Given the description of an element on the screen output the (x, y) to click on. 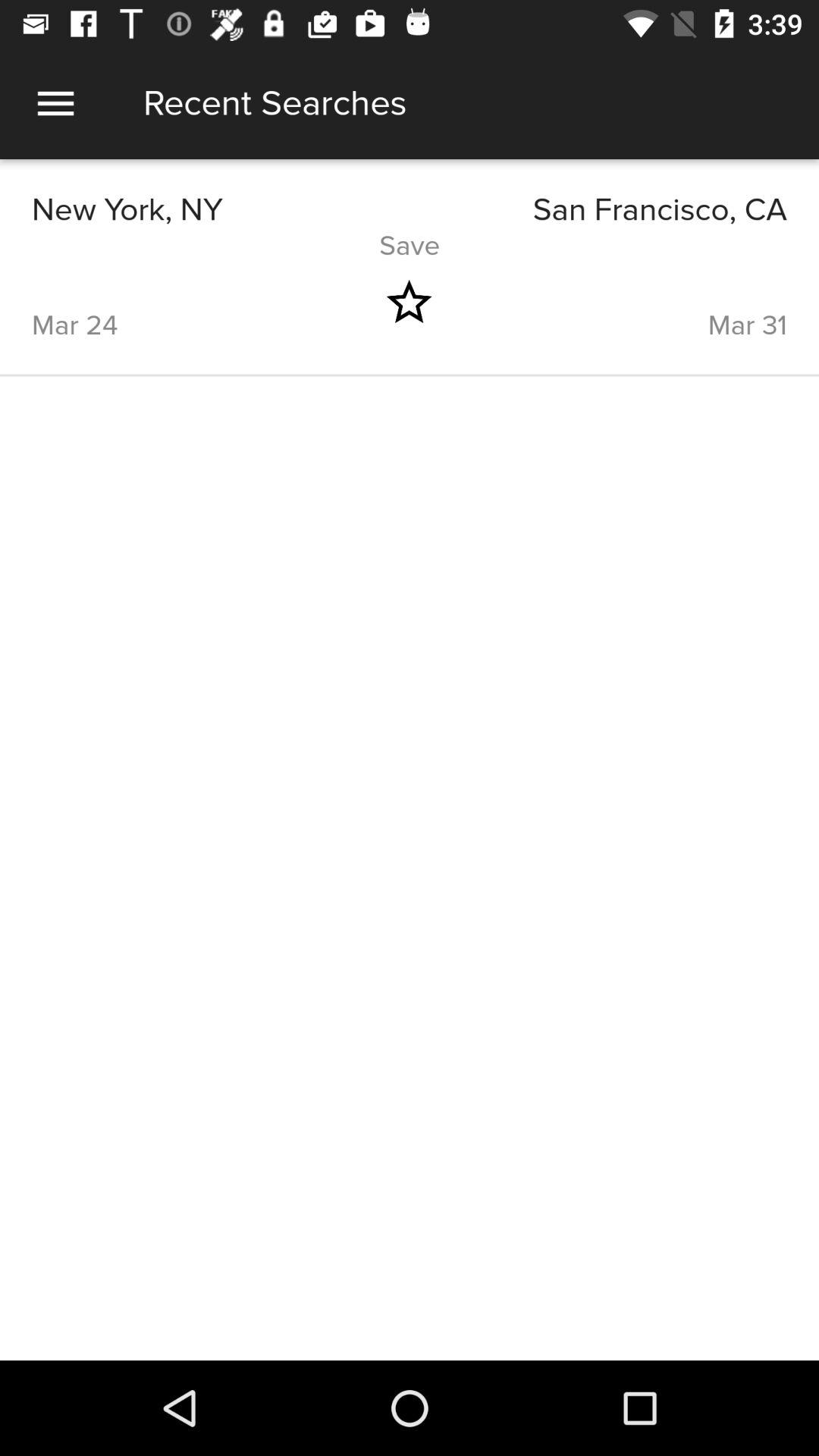
drop down menu (55, 103)
